Given the description of an element on the screen output the (x, y) to click on. 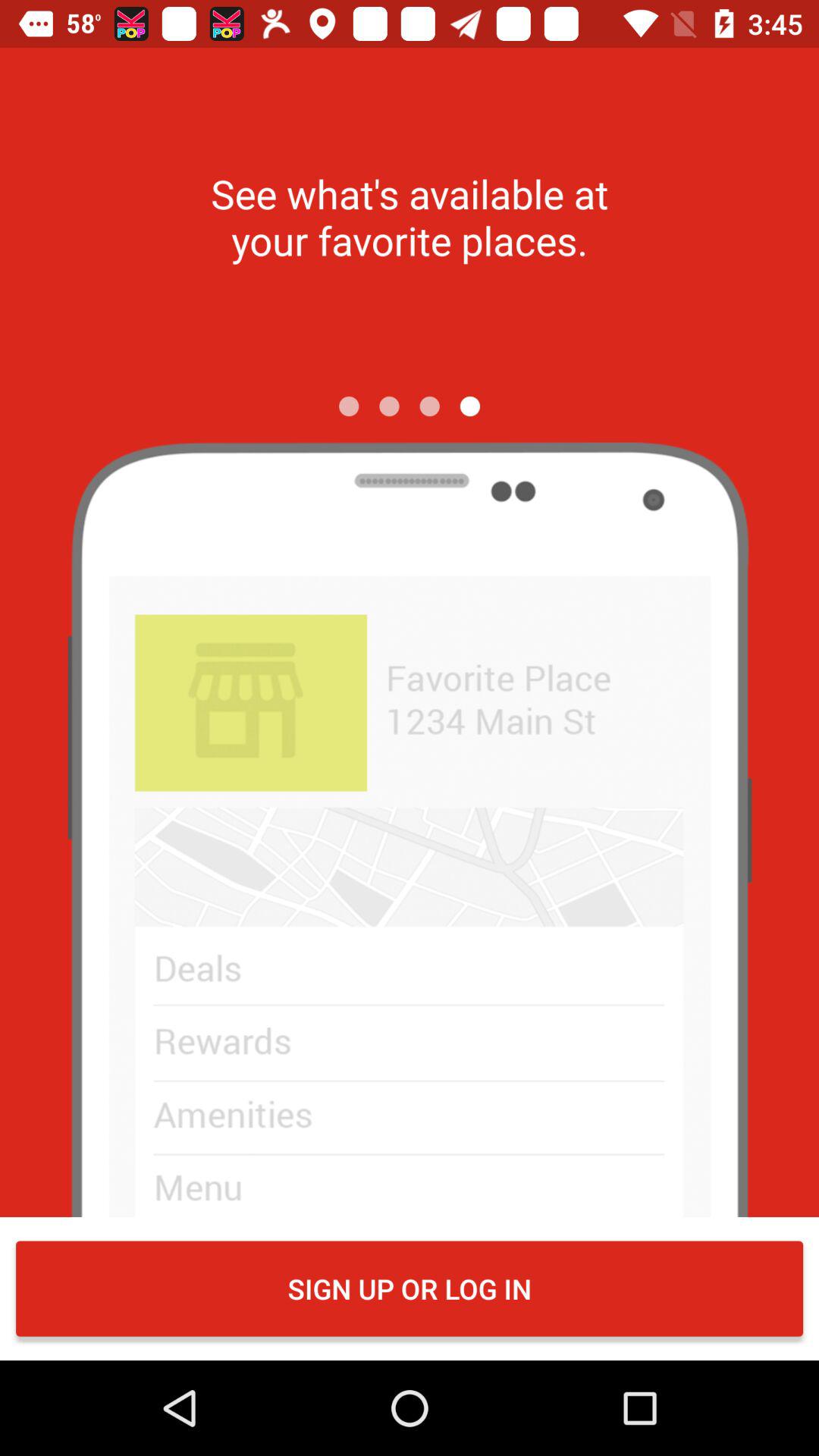
jump to the sign up or item (409, 1288)
